Given the description of an element on the screen output the (x, y) to click on. 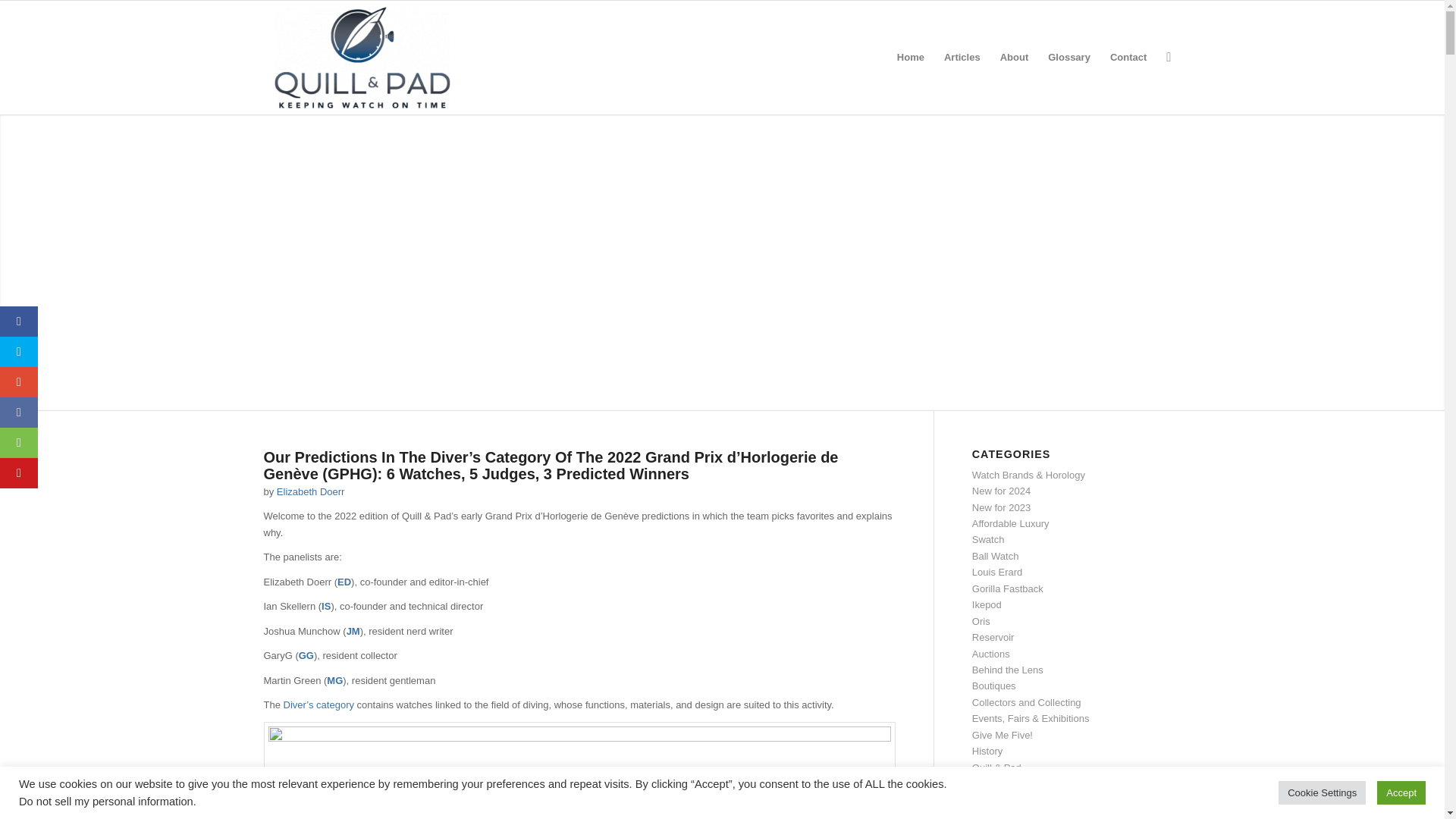
Elizabeth Doerr (310, 491)
